Given the description of an element on the screen output the (x, y) to click on. 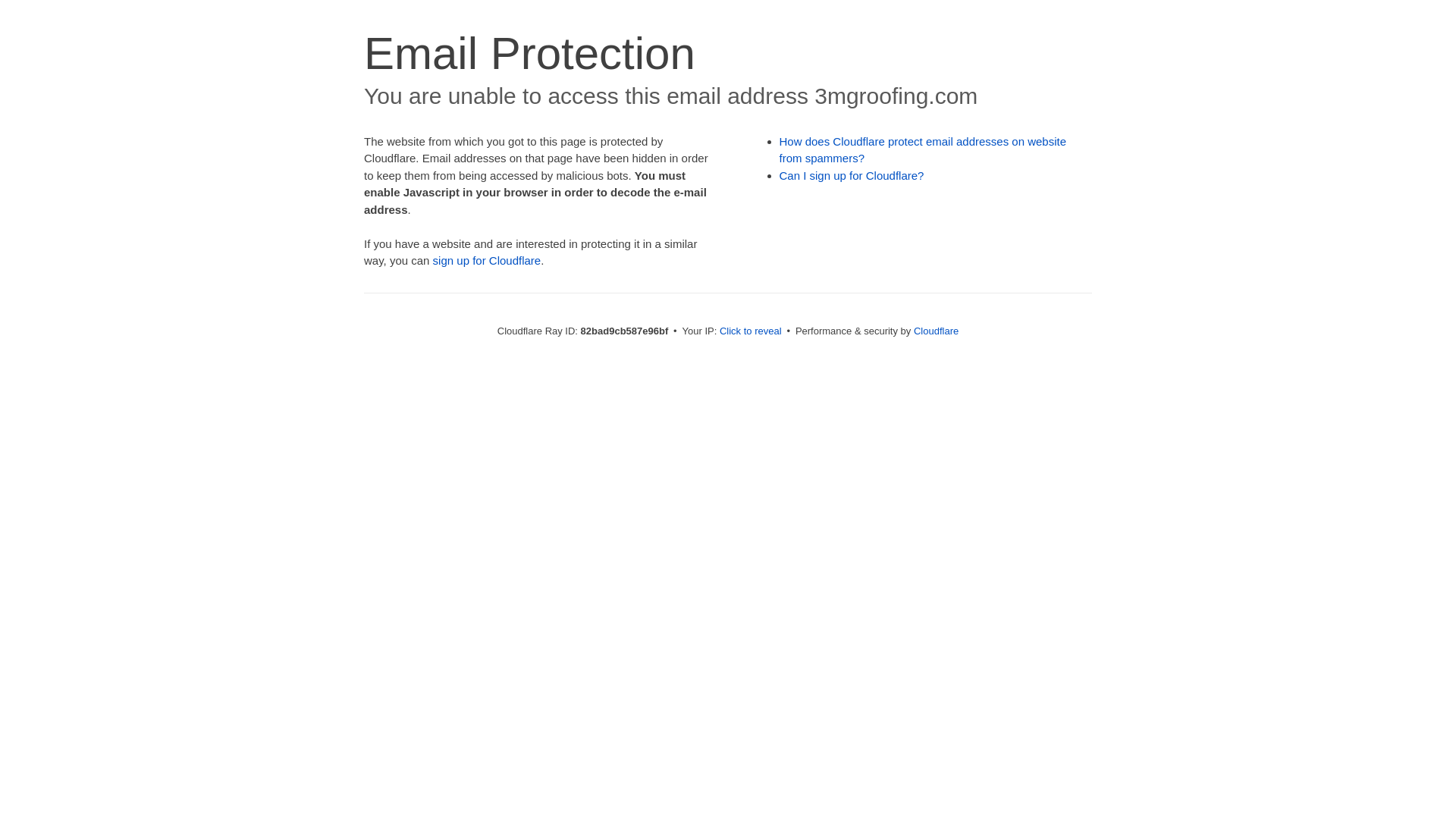
Click to reveal Element type: text (750, 330)
Cloudflare Element type: text (935, 330)
sign up for Cloudflare Element type: text (487, 260)
Can I sign up for Cloudflare? Element type: text (851, 175)
